Given the description of an element on the screen output the (x, y) to click on. 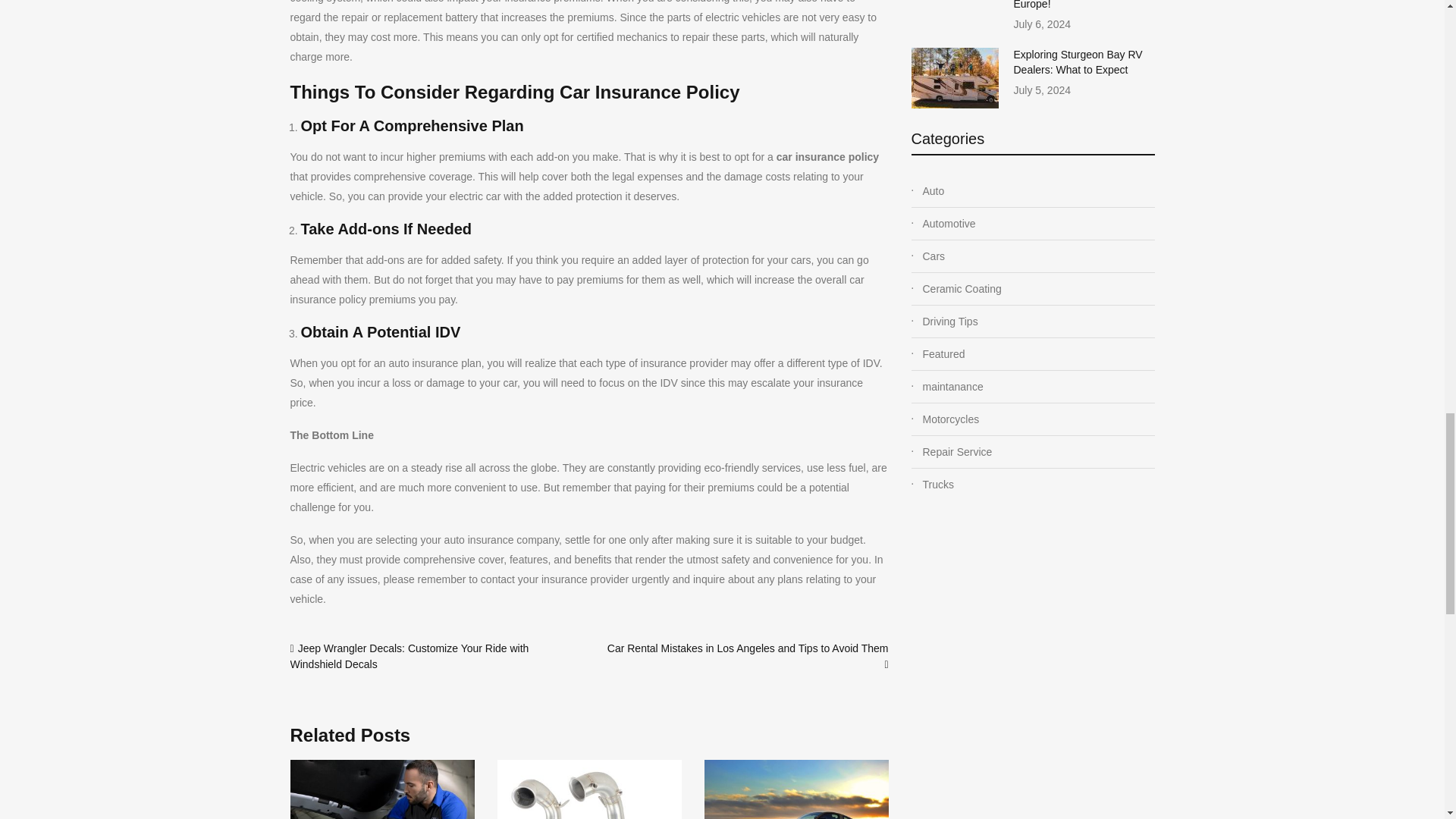
Car Rental Mistakes in Los Angeles and Tips to Avoid Them (747, 648)
